Given the description of an element on the screen output the (x, y) to click on. 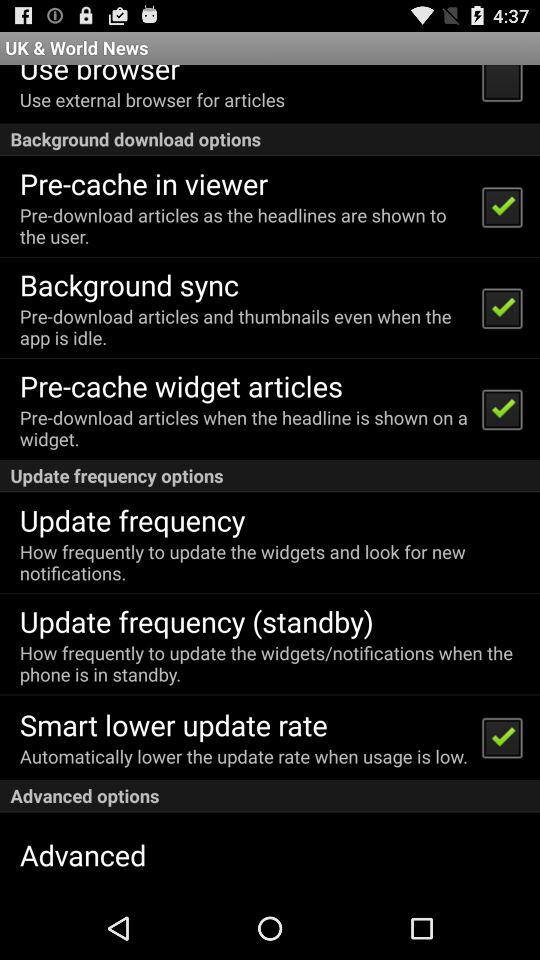
swipe until advanced options item (270, 796)
